Given the description of an element on the screen output the (x, y) to click on. 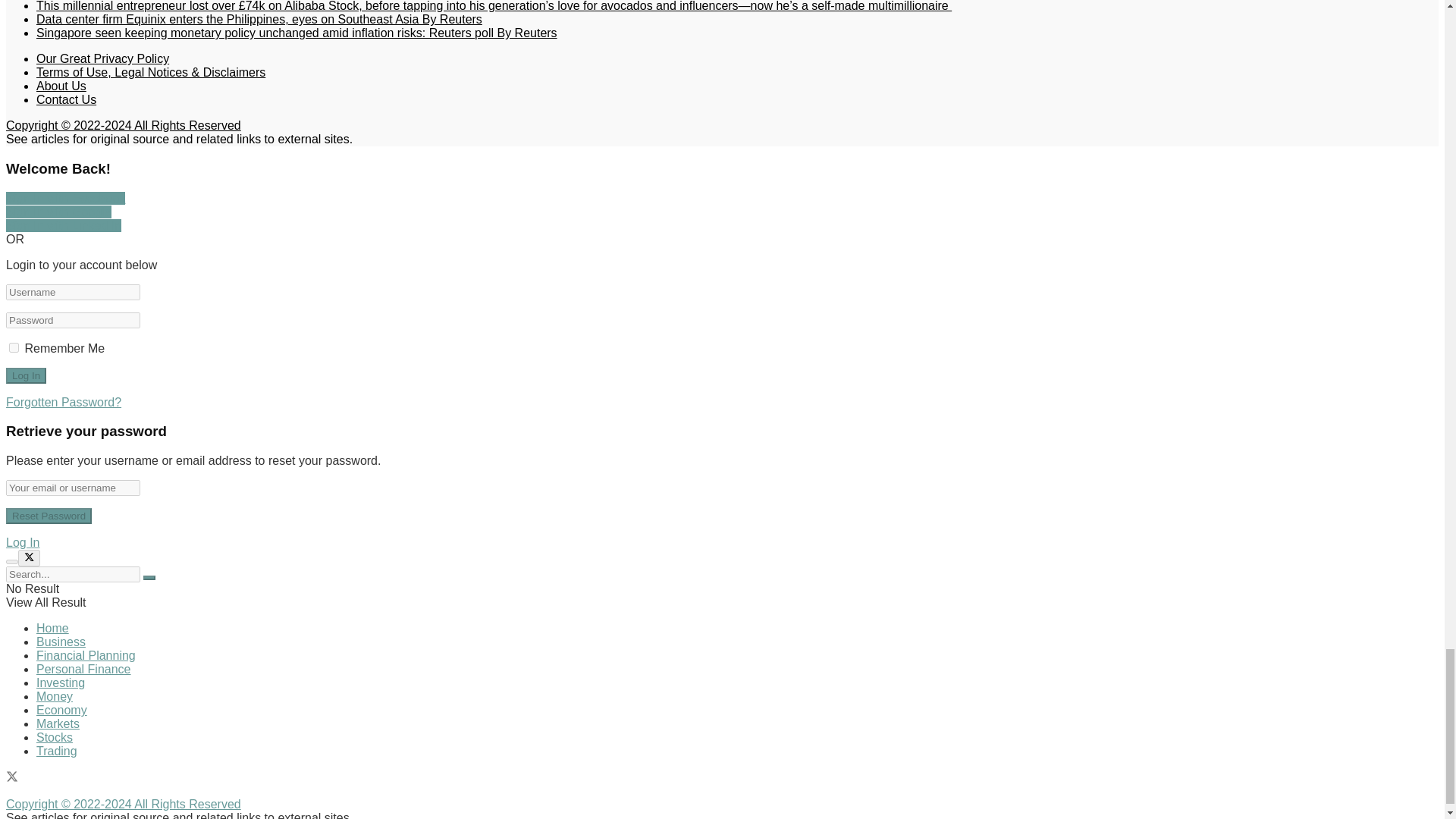
Reset Password (48, 515)
true (13, 347)
Log In (25, 375)
